Given the description of an element on the screen output the (x, y) to click on. 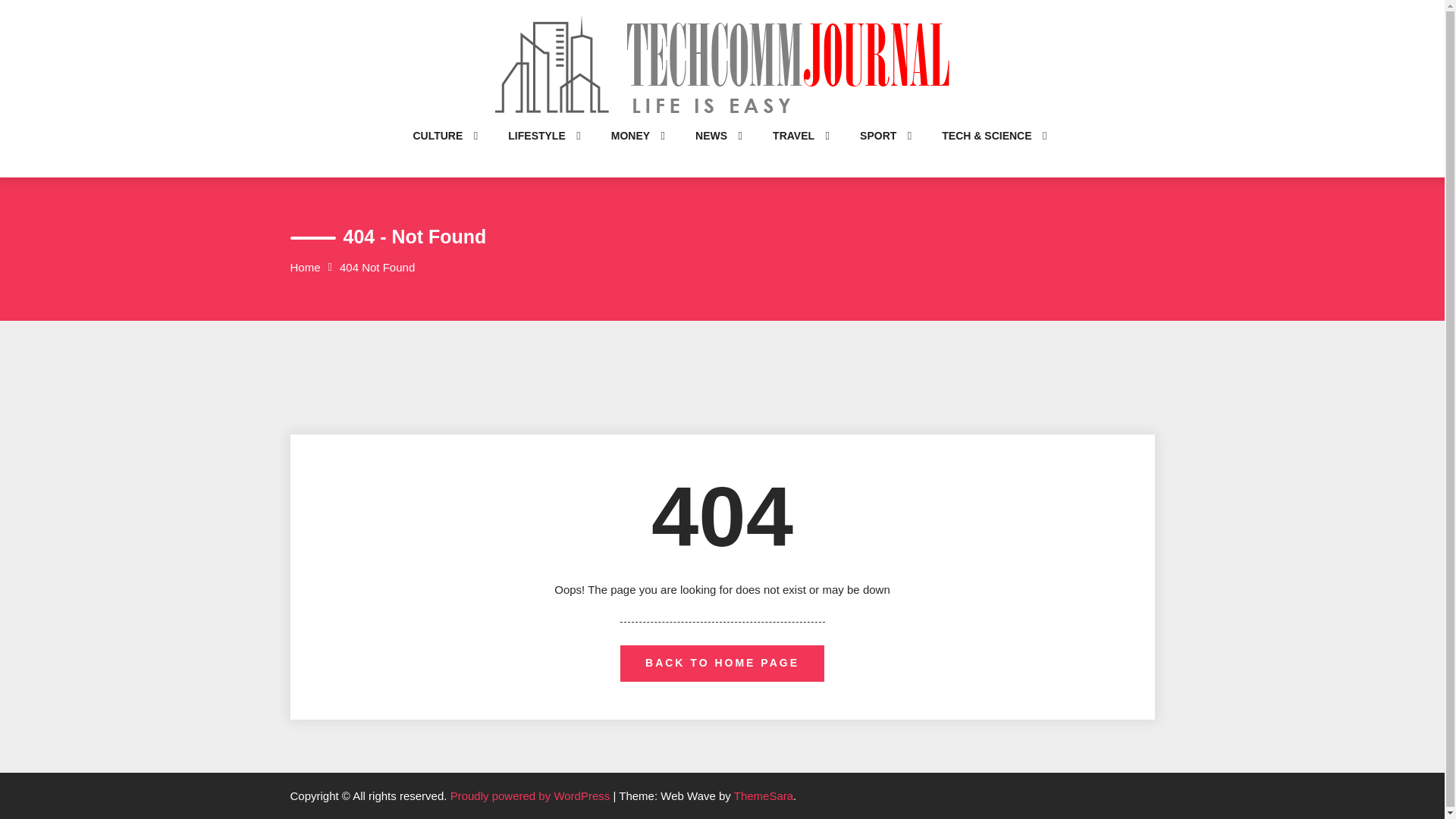
LIFESTYLE (536, 150)
CULTURE (437, 150)
